Given the description of an element on the screen output the (x, y) to click on. 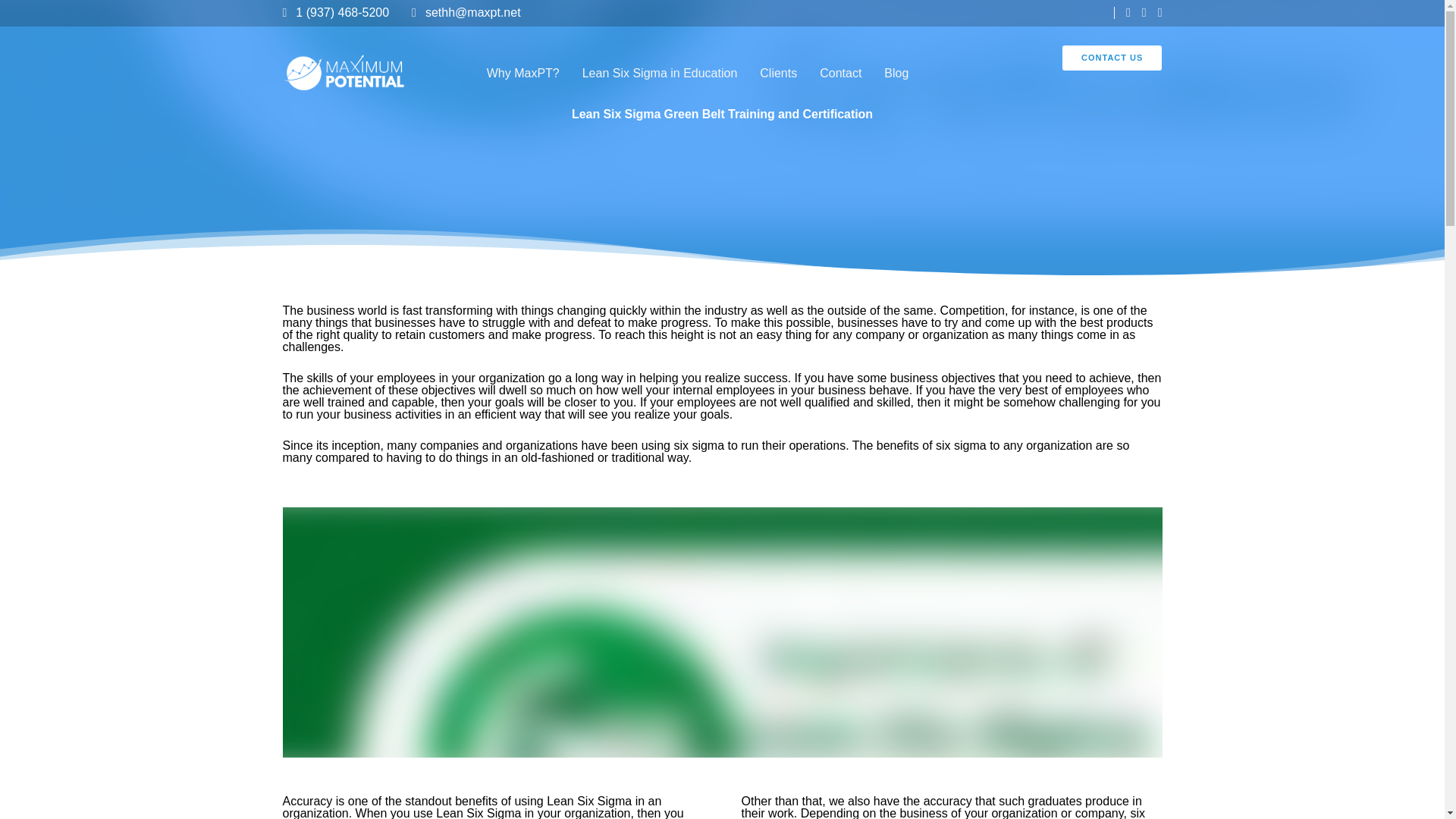
Clients (778, 72)
Blog (895, 72)
Lean Six Sigma in Education (660, 72)
Why MaxPT? (523, 72)
Contact (840, 72)
CONTACT US (1111, 57)
Clients (778, 72)
Lean Six Sigma in Education (660, 72)
Why MaxPT? (523, 72)
Blog (895, 72)
